Given the description of an element on the screen output the (x, y) to click on. 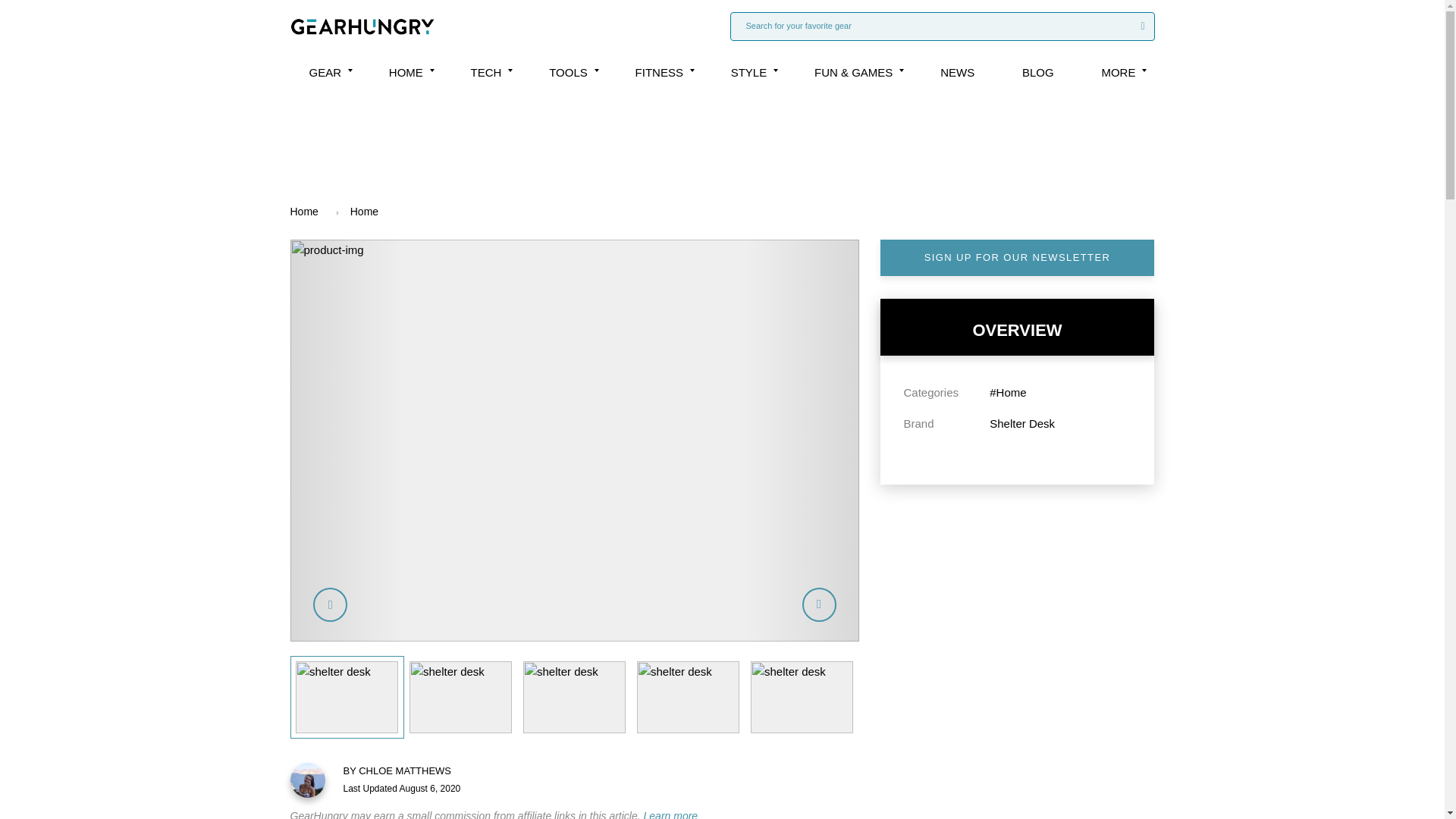
GEAR (324, 72)
TOOLS (568, 72)
TECH (486, 72)
HOME (405, 72)
FITNESS (658, 72)
